Given the description of an element on the screen output the (x, y) to click on. 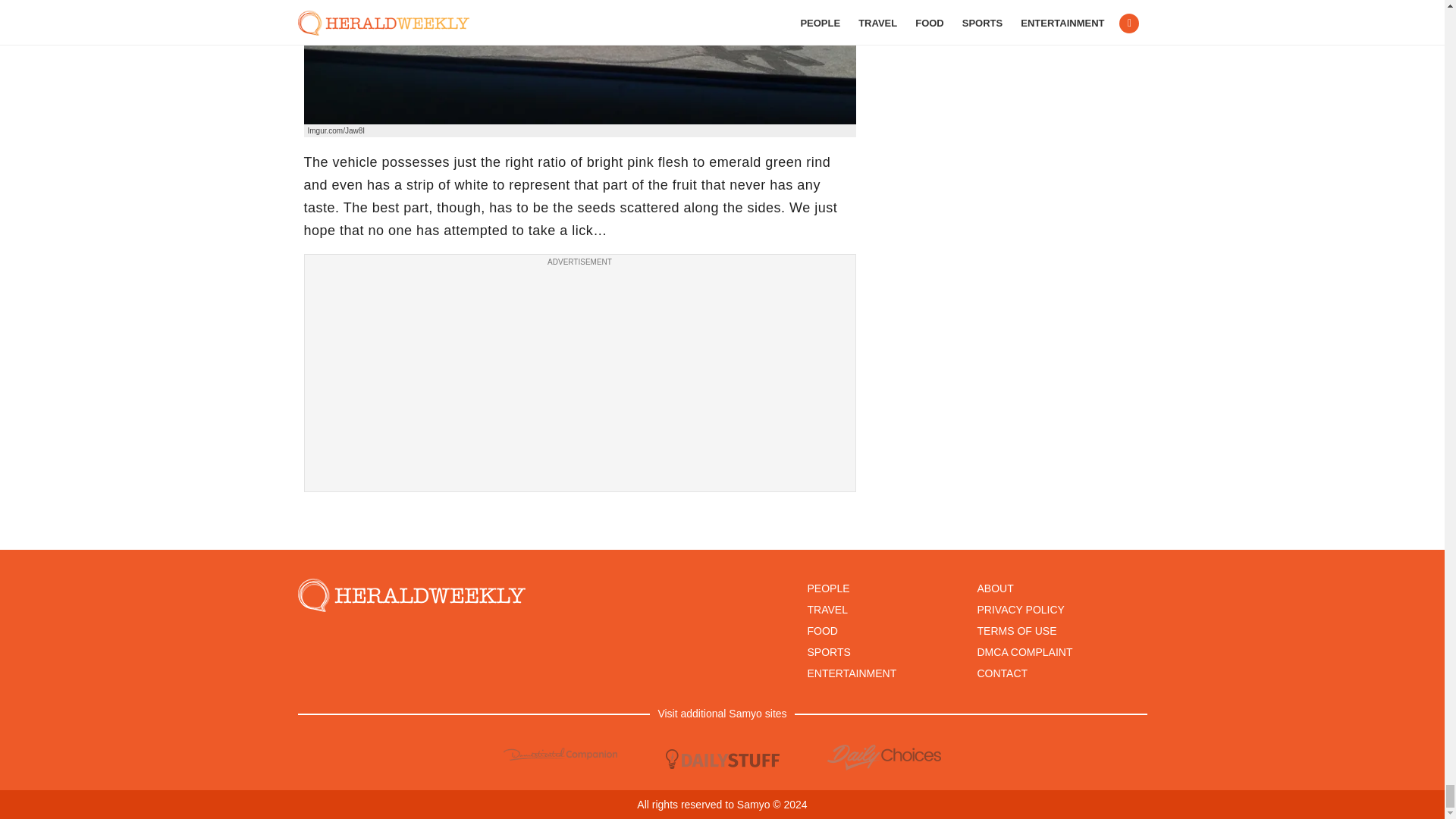
PRIVACY POLICY (1020, 609)
CONTACT (1001, 673)
ENTERTAINMENT (851, 673)
SPORTS (828, 652)
TRAVEL (826, 609)
FOOD (821, 630)
ABOUT (994, 588)
DMCA COMPLAINT (1023, 652)
PEOPLE (827, 588)
TERMS OF USE (1016, 630)
